Given the description of an element on the screen output the (x, y) to click on. 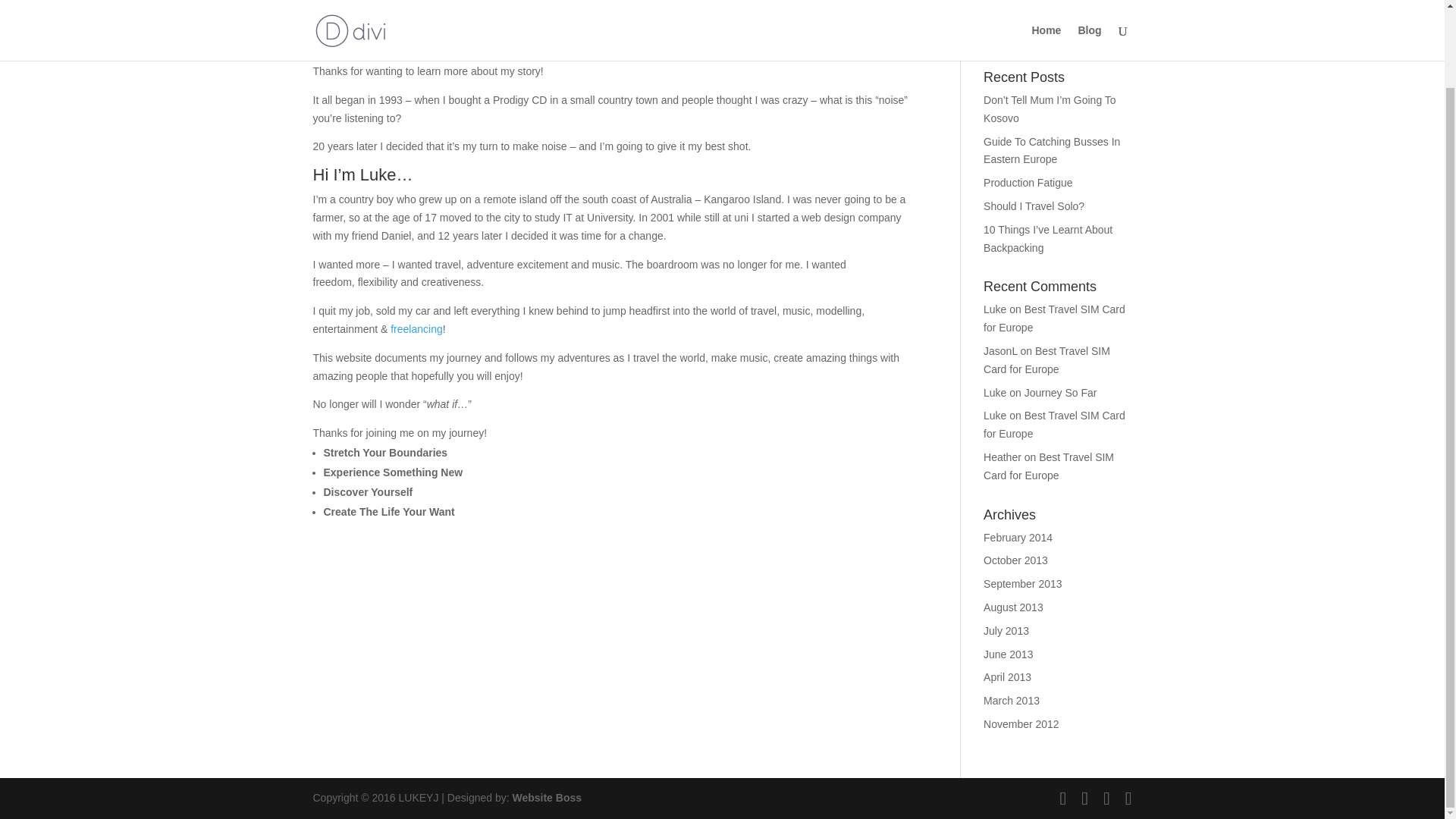
Best Travel SIM Card for Europe (1054, 318)
Luke (995, 415)
Search (1106, 32)
JasonL (1000, 350)
Luke (995, 309)
September 2013 (1023, 583)
Best Travel SIM Card for Europe (1046, 359)
April 2013 (1007, 676)
Heather (1003, 457)
Website Boss (546, 797)
Production Fatigue (1028, 182)
October 2013 (1016, 560)
Search (1106, 32)
Best Travel SIM Card for Europe (1048, 466)
Should I Travel Solo? (1034, 205)
